Given the description of an element on the screen output the (x, y) to click on. 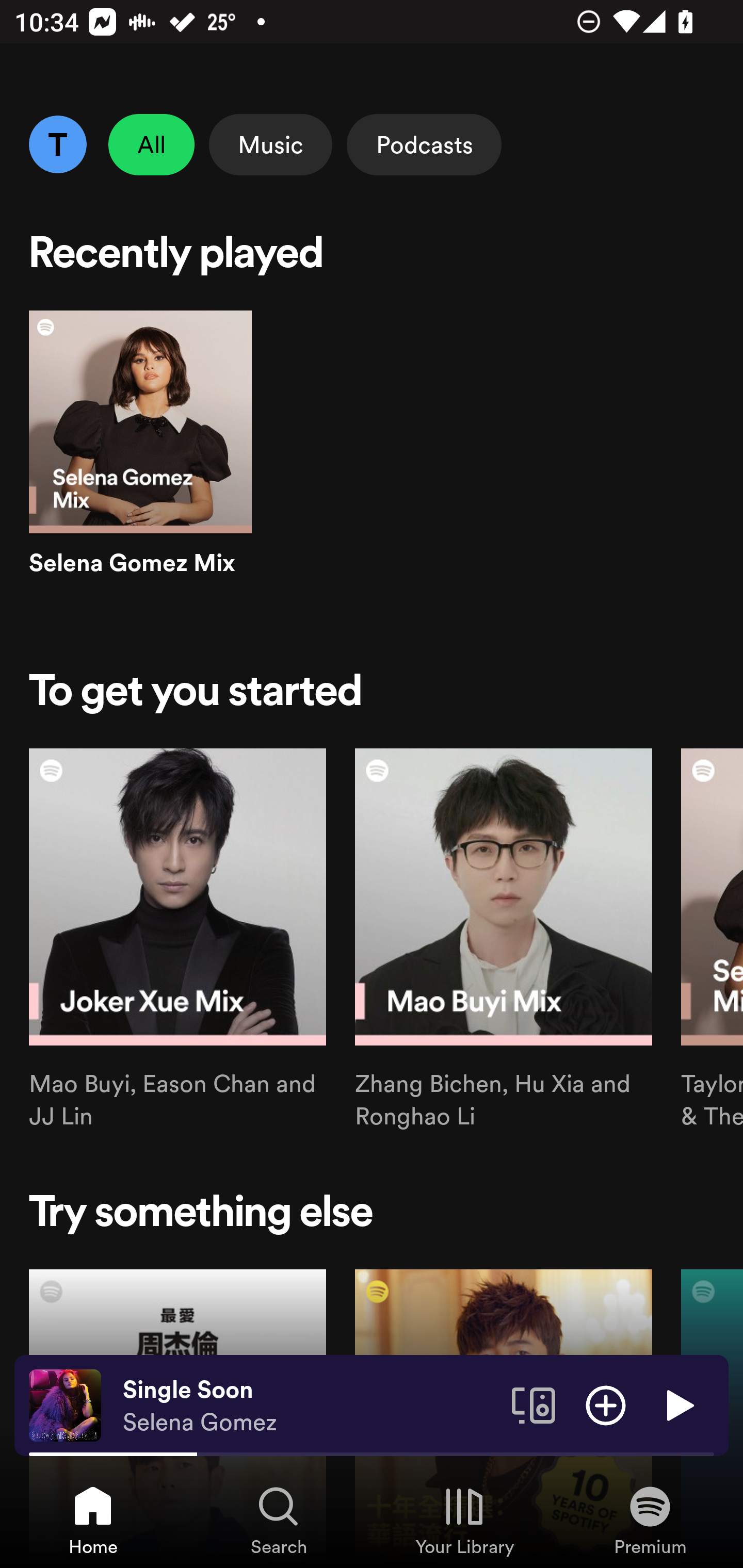
Profile (57, 144)
All Unselect All (151, 144)
Music Select Music (270, 144)
Podcasts Select Podcasts (423, 144)
Selena Gomez Mix (139, 460)
Single Soon Selena Gomez (309, 1405)
The cover art of the currently playing track (64, 1404)
Connect to a device. Opens the devices menu (533, 1404)
Add item (605, 1404)
Play (677, 1404)
Home, Tab 1 of 4 Home Home (92, 1519)
Search, Tab 2 of 4 Search Search (278, 1519)
Your Library, Tab 3 of 4 Your Library Your Library (464, 1519)
Premium, Tab 4 of 4 Premium Premium (650, 1519)
